Given the description of an element on the screen output the (x, y) to click on. 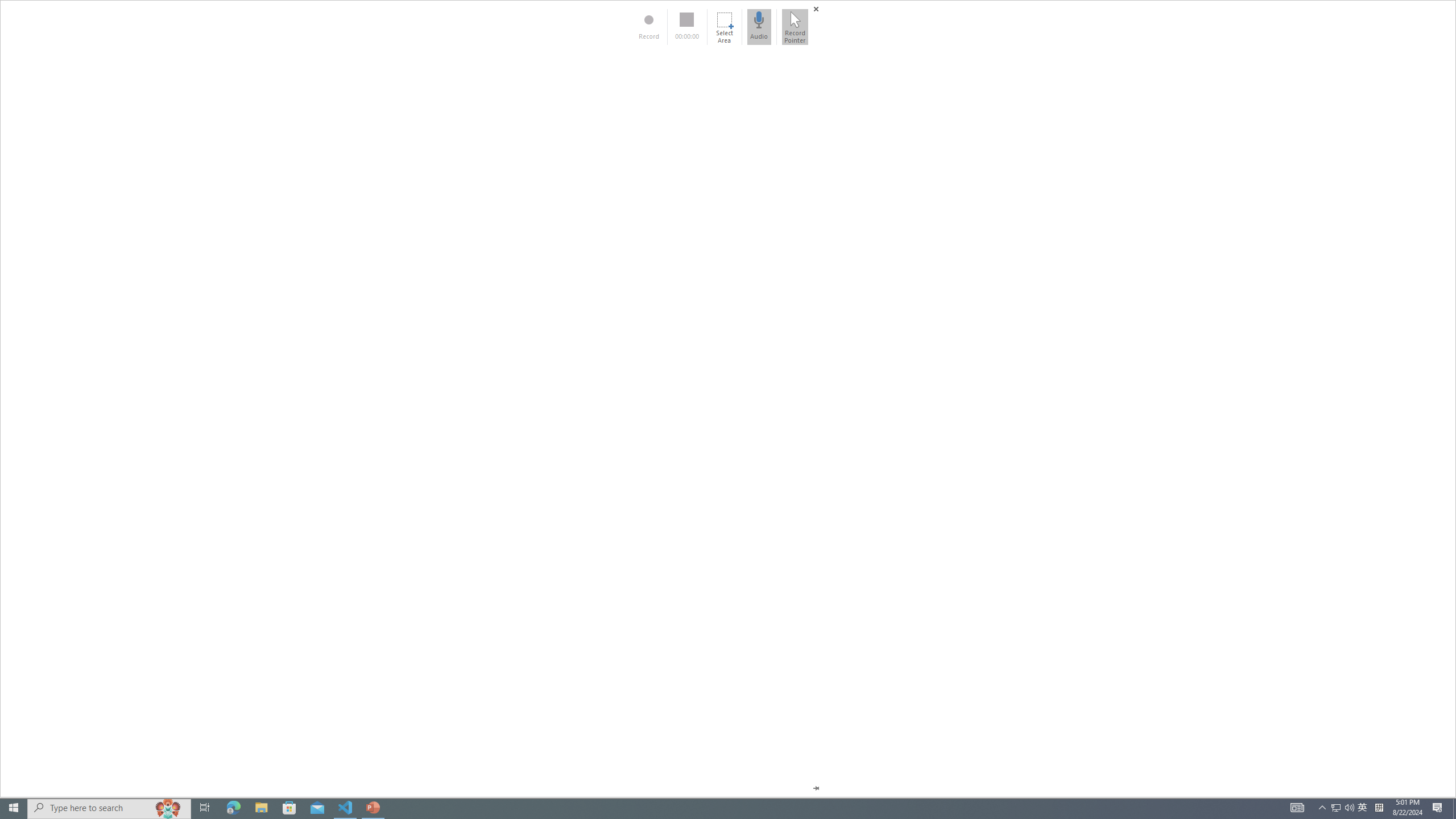
Record Pointer (794, 27)
Select Area (723, 27)
00:00:00 (686, 27)
Close (Windows logo key+Shift+Q) (815, 8)
MiniBar (728, 398)
Pin the Dock (Windows logo key+Shift+I) (815, 788)
